Given the description of an element on the screen output the (x, y) to click on. 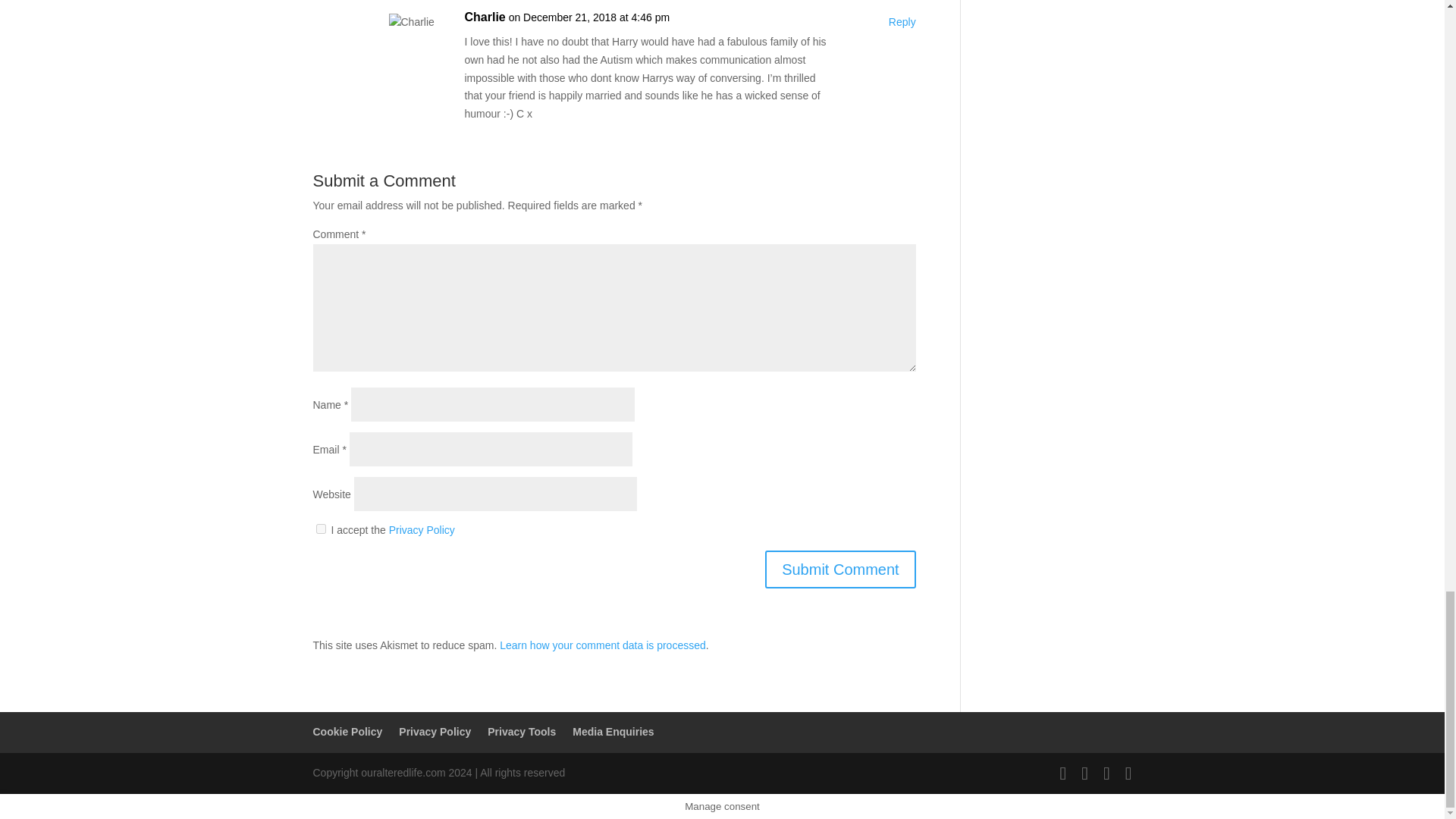
Learn how your comment data is processed (602, 645)
Privacy Policy (421, 530)
Submit Comment (840, 569)
Submit Comment (840, 569)
Reply (901, 22)
1 (319, 528)
